Given the description of an element on the screen output the (x, y) to click on. 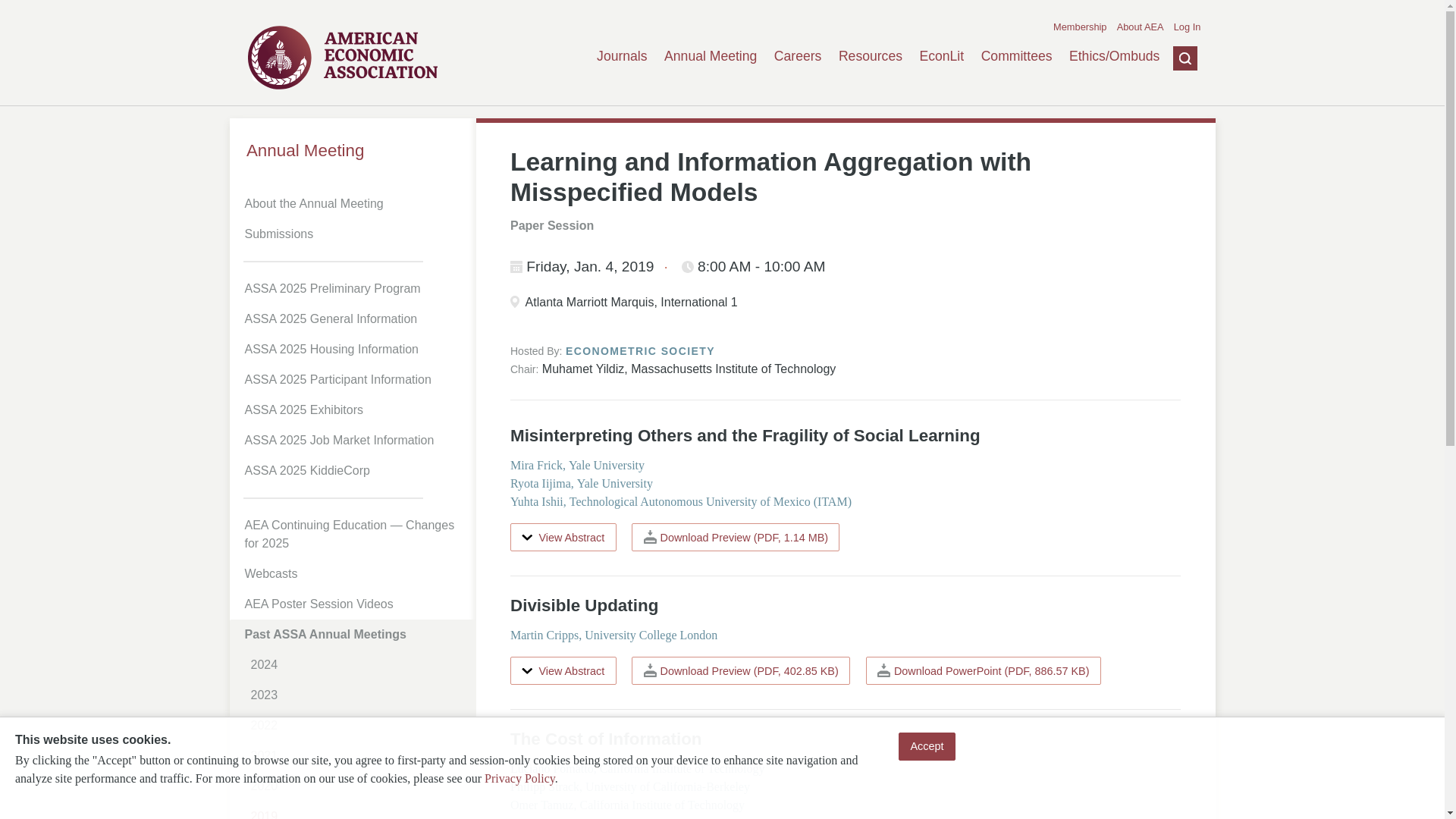
ASSA 2025 Participant Information (355, 379)
ASSA 2025 Job Market Information (355, 440)
Membership (1079, 26)
Webcasts (355, 573)
ASSA 2025 General Information (355, 318)
Annual Meeting (352, 150)
Resources (870, 55)
Submissions (355, 234)
ASSA 2025 Preliminary Program (355, 288)
Accept (926, 746)
